Given the description of an element on the screen output the (x, y) to click on. 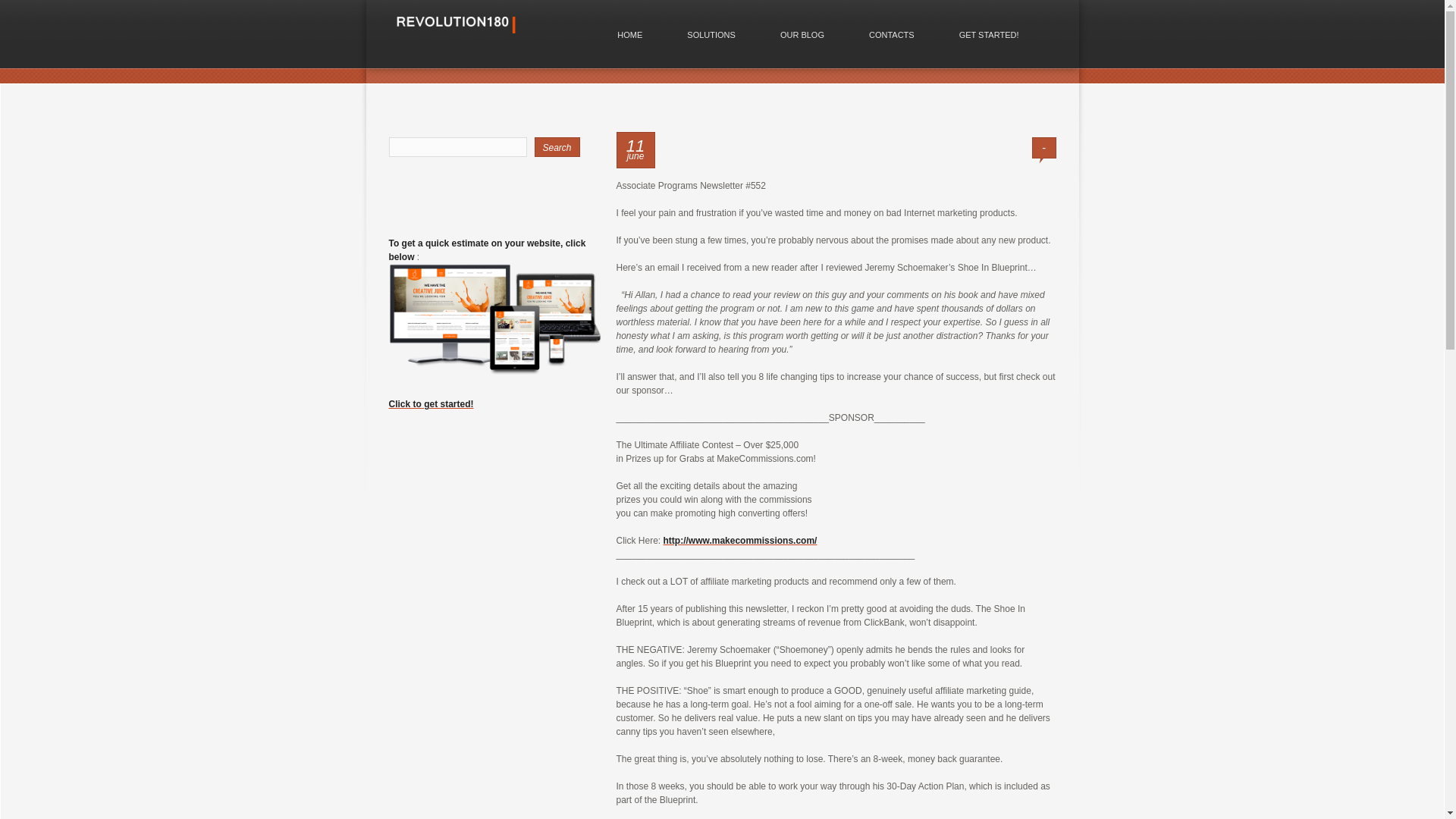
CONTACTS (891, 35)
Click to get started! (430, 403)
GET STARTED! (989, 35)
Advertisement (483, 802)
SOLUTIONS (710, 35)
Search (556, 147)
Search (556, 147)
Advertisement (483, 606)
OUR BLOG (802, 35)
39158-rs (493, 319)
HOME (629, 35)
